Given the description of an element on the screen output the (x, y) to click on. 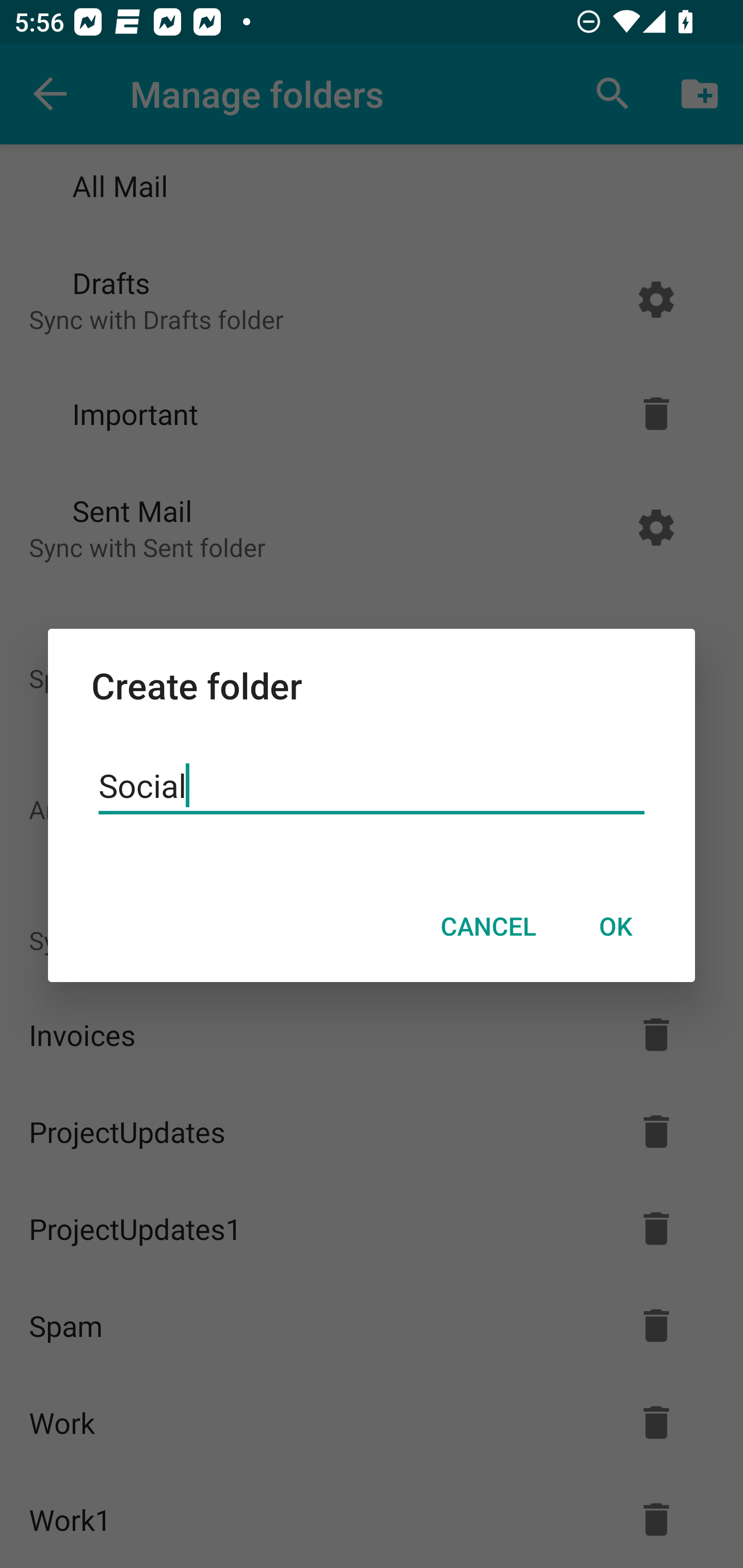
Social (371, 785)
CANCEL (488, 926)
OK (615, 926)
